Given the description of an element on the screen output the (x, y) to click on. 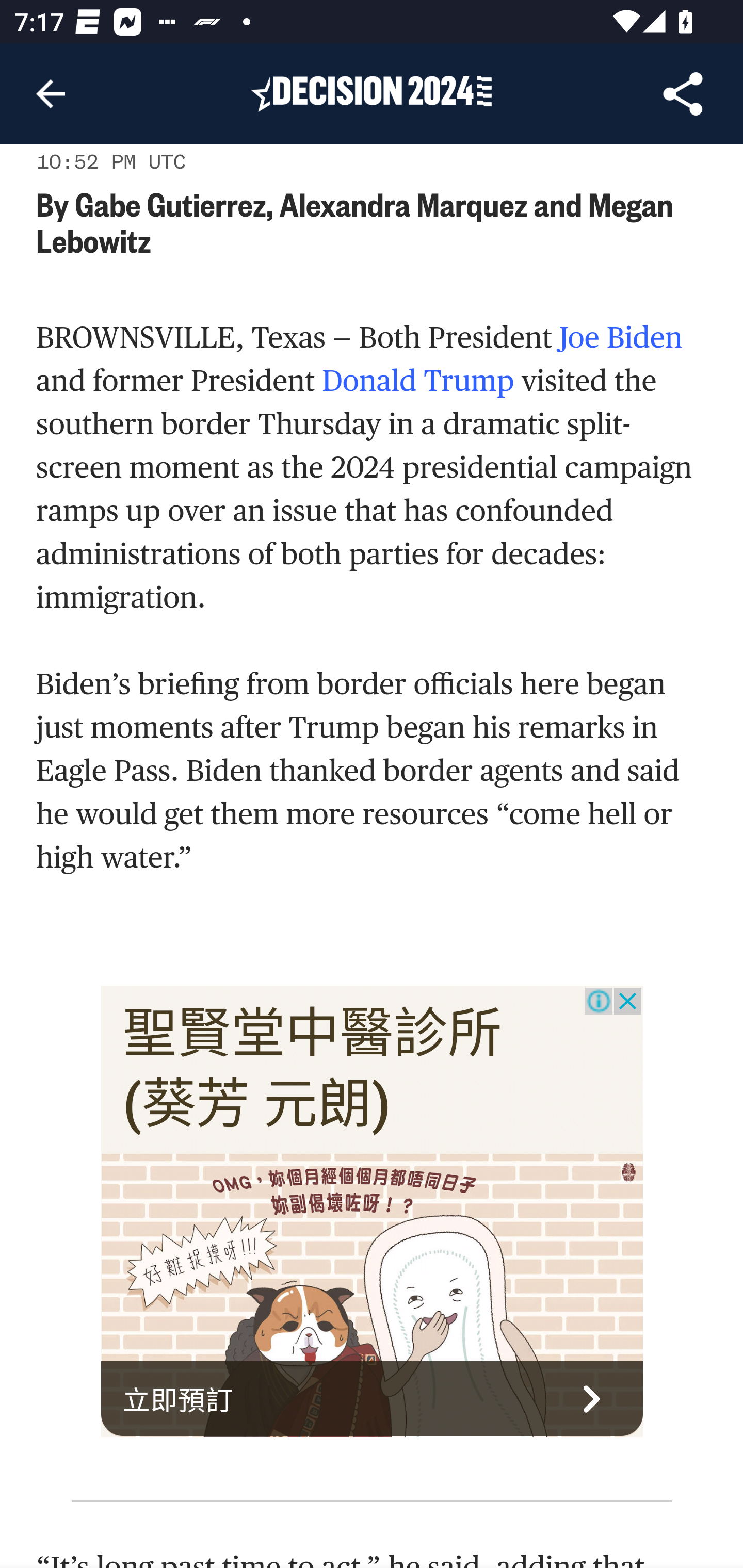
Navigate up (50, 93)
Share Article, button (683, 94)
Header, Decision 2024 (371, 93)
Megan Lebowitz (355, 222)
Joe Biden (620, 339)
Donald Trump (417, 383)
聖賢堂中醫診所 (葵芳 元朗) 聖賢堂中醫診所 (葵芳 元朗) (312, 1068)
立即預訂 (372, 1399)
